Given the description of an element on the screen output the (x, y) to click on. 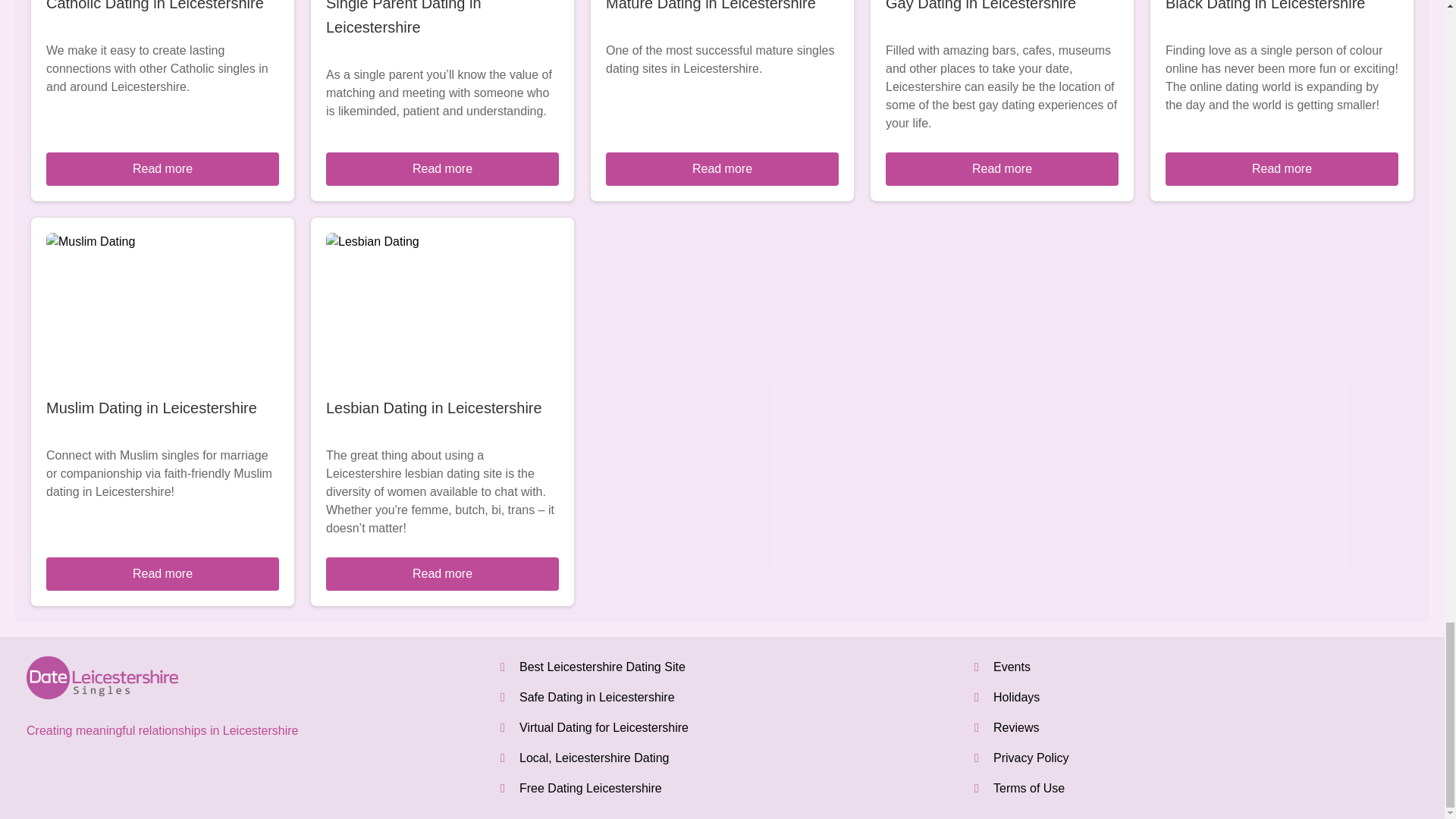
Holidays (1015, 697)
Free Dating Leicestershire (590, 788)
Virtual Dating for Leicestershire (603, 727)
Read more (1001, 168)
Terms of Use (1028, 788)
Read more (442, 573)
Read more (1281, 168)
Read more (162, 168)
Local, Leicestershire Dating (593, 757)
Safe Dating in Leicestershire (597, 697)
